Given the description of an element on the screen output the (x, y) to click on. 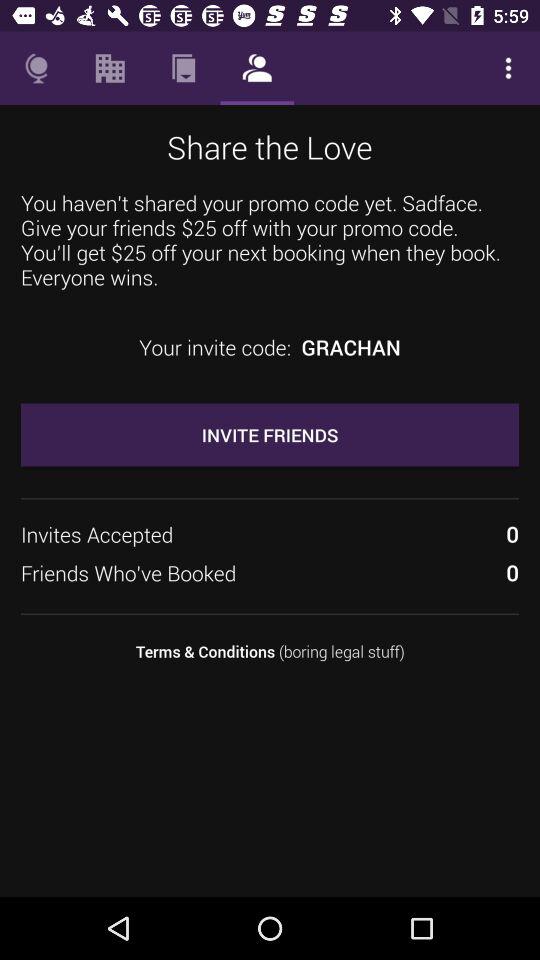
turn on icon to the right of the your invite code: icon (350, 347)
